Given the description of an element on the screen output the (x, y) to click on. 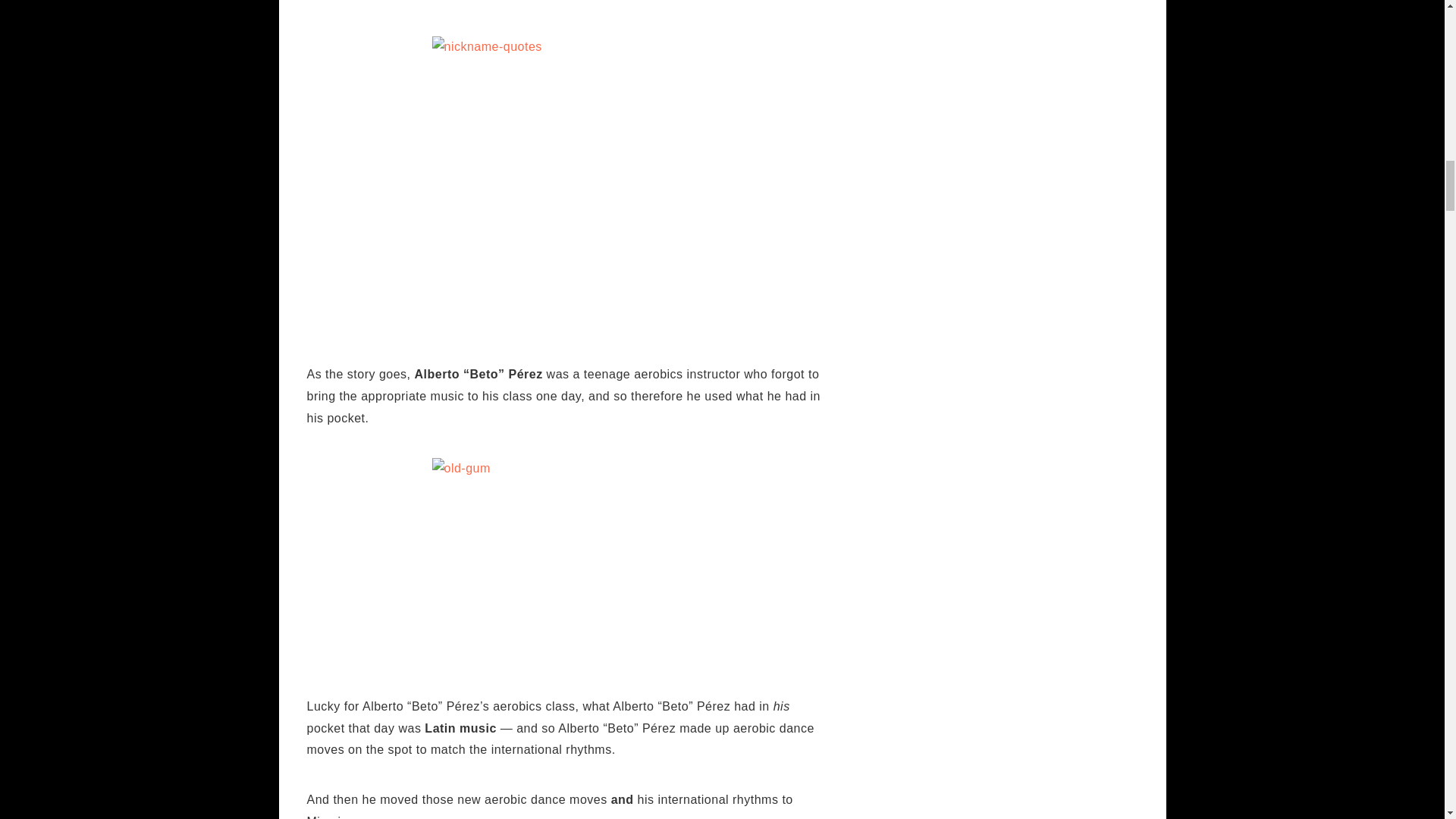
alberto-beto-perez by i am bossy, on Flickr (563, 4)
old-gum by i am bossy, on Flickr (563, 562)
